Given the description of an element on the screen output the (x, y) to click on. 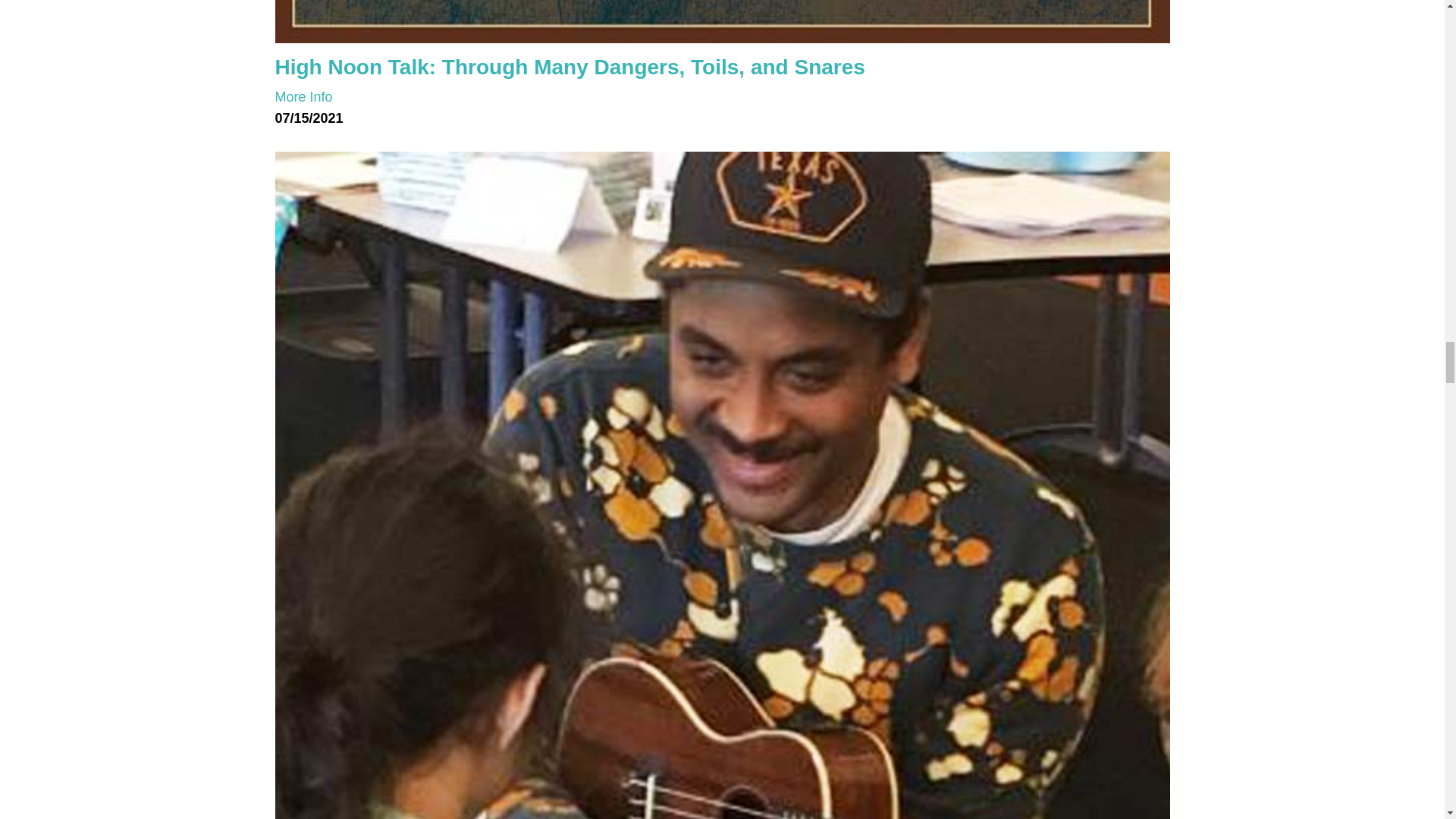
High Noon Talk: Through Many Dangers, Toils, and Snares (303, 96)
High Noon Talk: Through Many Dangers, Toils, and Snares (569, 65)
High Noon Talk: Through Many Dangers, Toils, and Snares (722, 21)
